Given the description of an element on the screen output the (x, y) to click on. 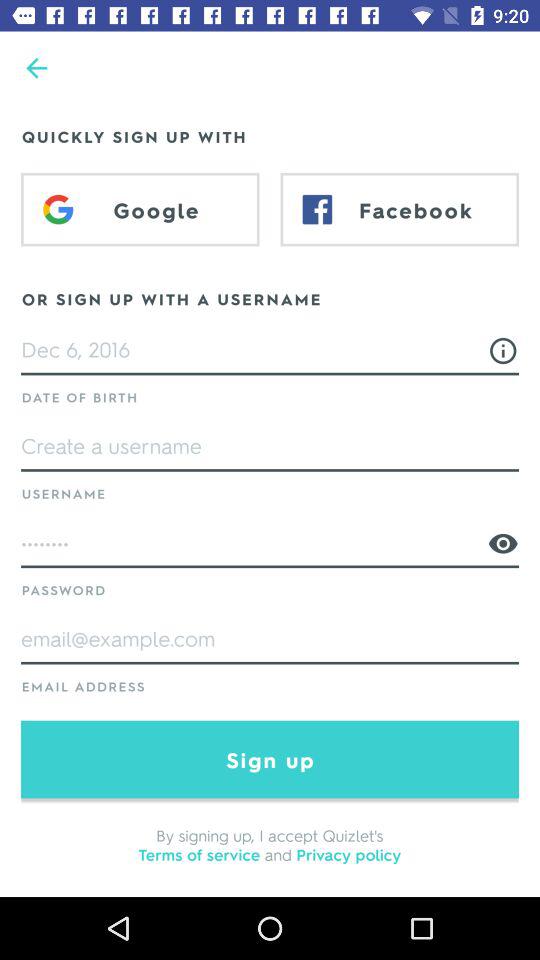
click item above or sign up (140, 209)
